Given the description of an element on the screen output the (x, y) to click on. 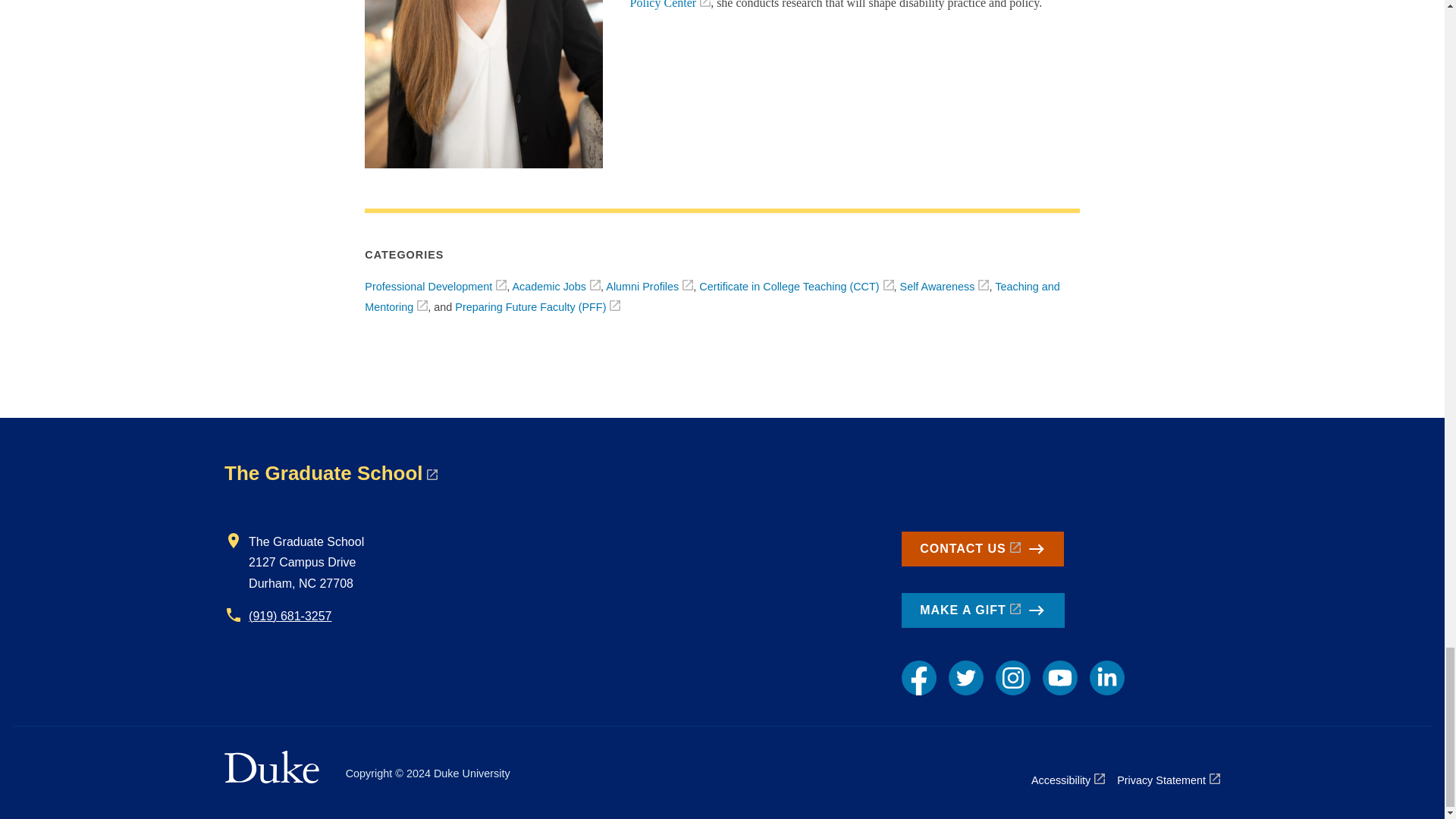
LinkedIn link (1106, 677)
YouTube link (1059, 677)
Instagram link (1012, 677)
Twitter link (966, 677)
Facebook link (918, 677)
